Given the description of an element on the screen output the (x, y) to click on. 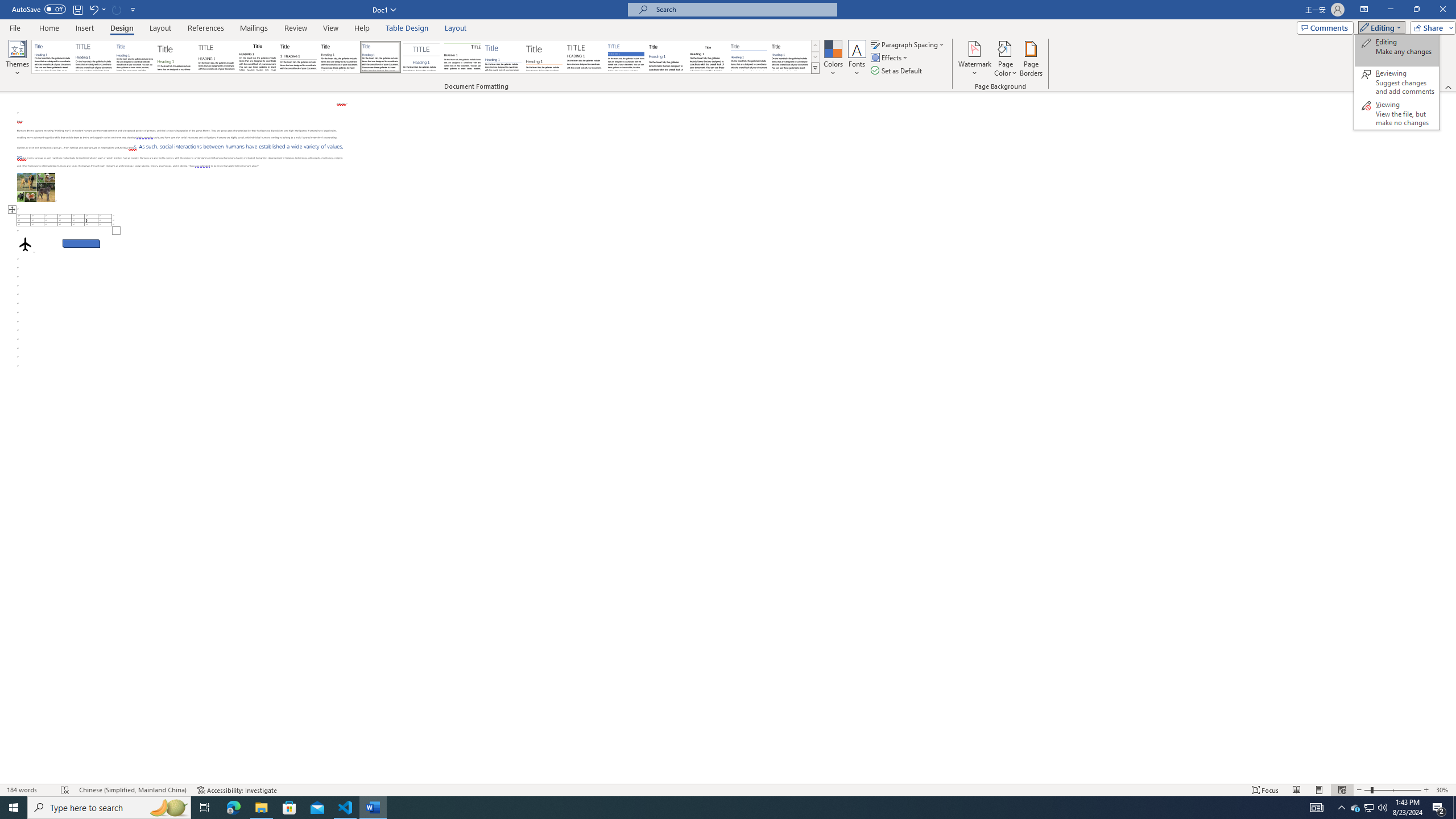
Black & White (Numbered) (298, 56)
Set as Default (897, 69)
Black & White (Word 2013) (338, 56)
Fonts (856, 58)
Document (52, 56)
Basic (Stylish) (175, 56)
